Given the description of an element on the screen output the (x, y) to click on. 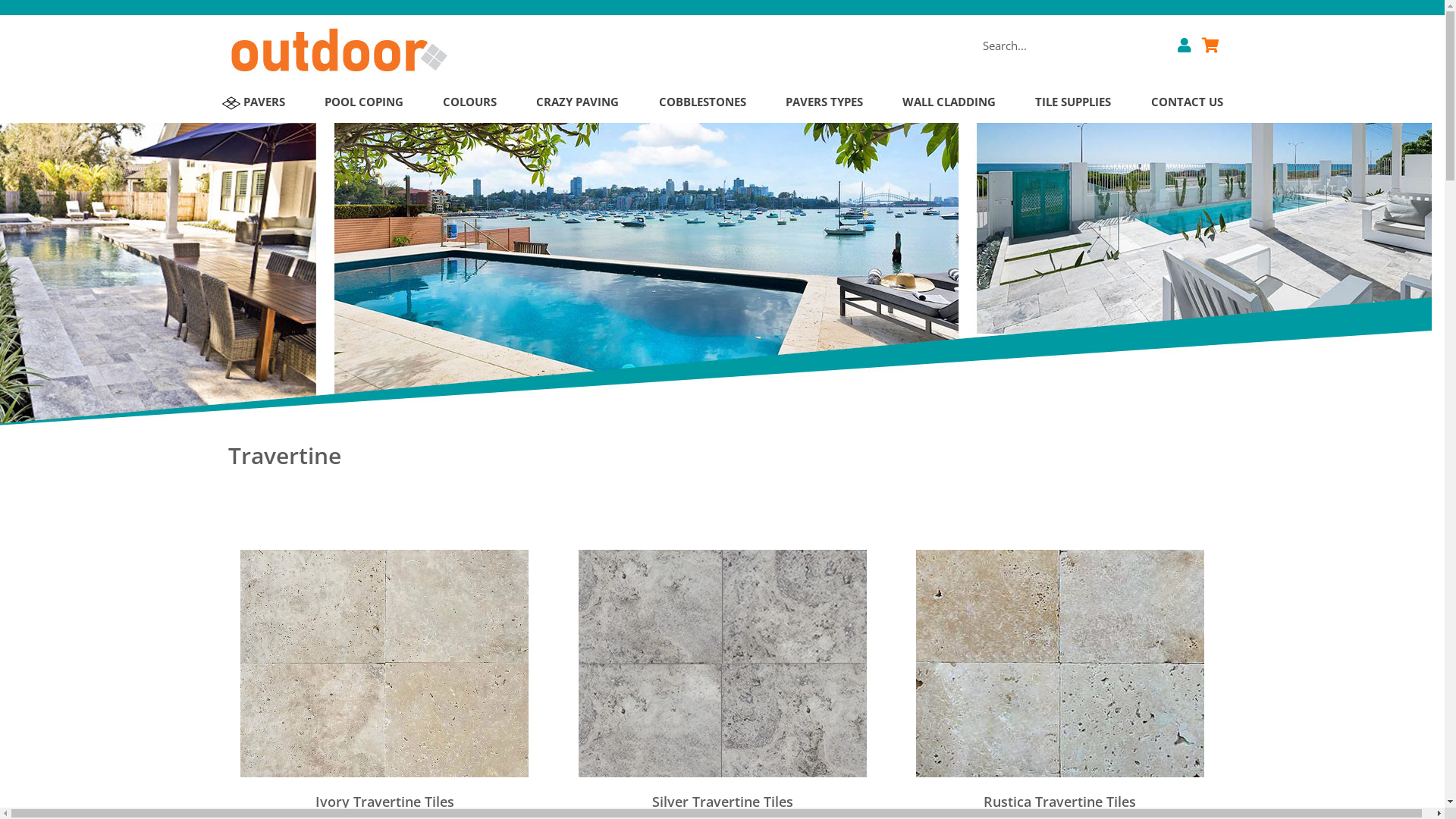
TILE SUPPLIES Element type: text (1072, 101)
Rustica Travertine Tiles Element type: text (1059, 801)
COBBLESTONES Element type: text (701, 101)
PAVERS Element type: text (252, 101)
Travertine Element type: text (721, 463)
Silver Travertine Tiles Element type: text (721, 801)
CRAZY PAVING Element type: text (577, 101)
POOL COPING Element type: text (363, 101)
WALL CLADDING Element type: text (948, 101)
PAVERS TYPES Element type: text (824, 101)
Travertine Tiles Element type: hover (384, 661)
Ivory Travertine Tiles Element type: text (383, 801)
COLOURS Element type: text (469, 101)
CONTACT US Element type: text (1186, 101)
